Given the description of an element on the screen output the (x, y) to click on. 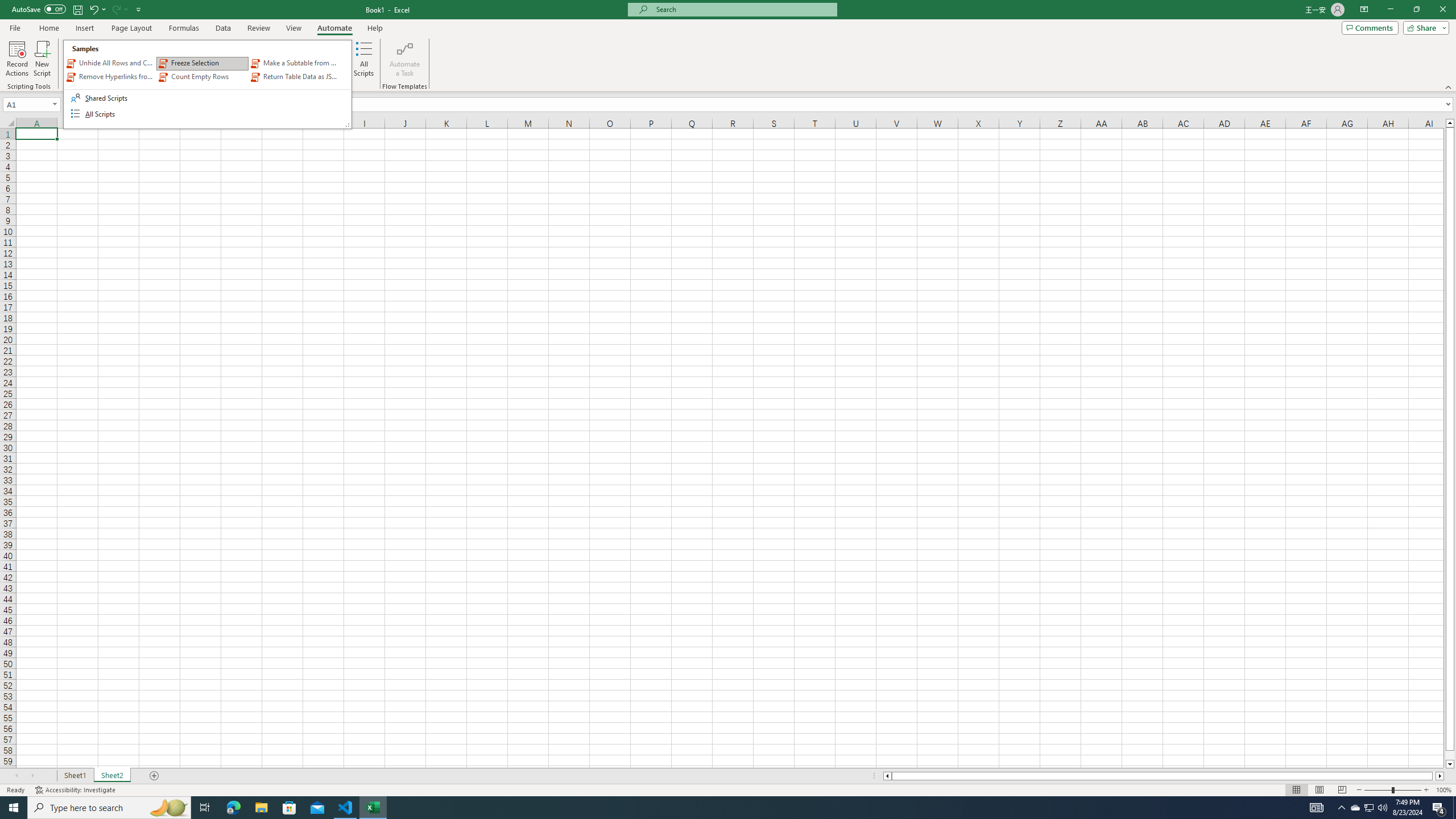
Page right (1433, 775)
Collapse the Ribbon (1448, 86)
Column left (886, 775)
Name Box (30, 104)
Page Layout (1318, 790)
Visual Studio Code - 1 running window (345, 807)
Help (374, 28)
Type here to search (108, 807)
Microsoft search (1368, 807)
Close (742, 9)
Normal (1442, 9)
Running applications (1296, 790)
Q2790: 100% (717, 807)
Accessibility Checker Accessibility: Investigate (1382, 807)
